Given the description of an element on the screen output the (x, y) to click on. 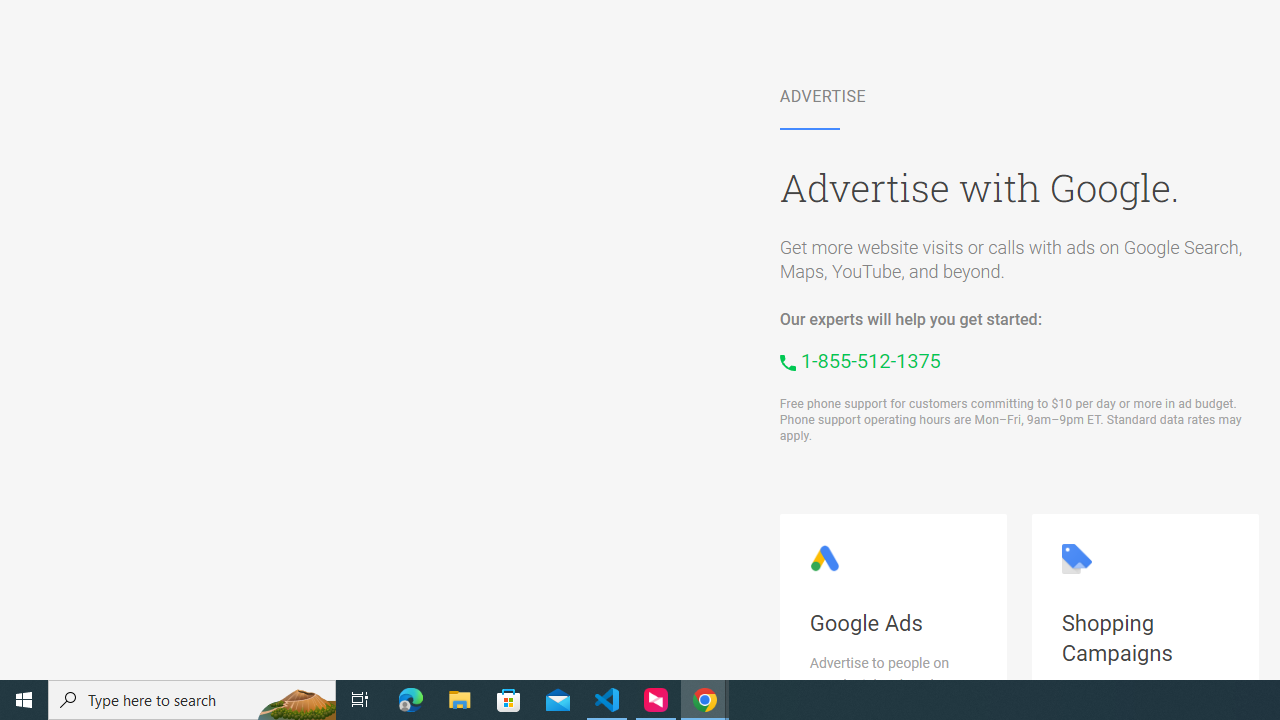
Google Ads logo (823, 558)
Google Shopping logo (1076, 558)
Call us (859, 360)
